Given the description of an element on the screen output the (x, y) to click on. 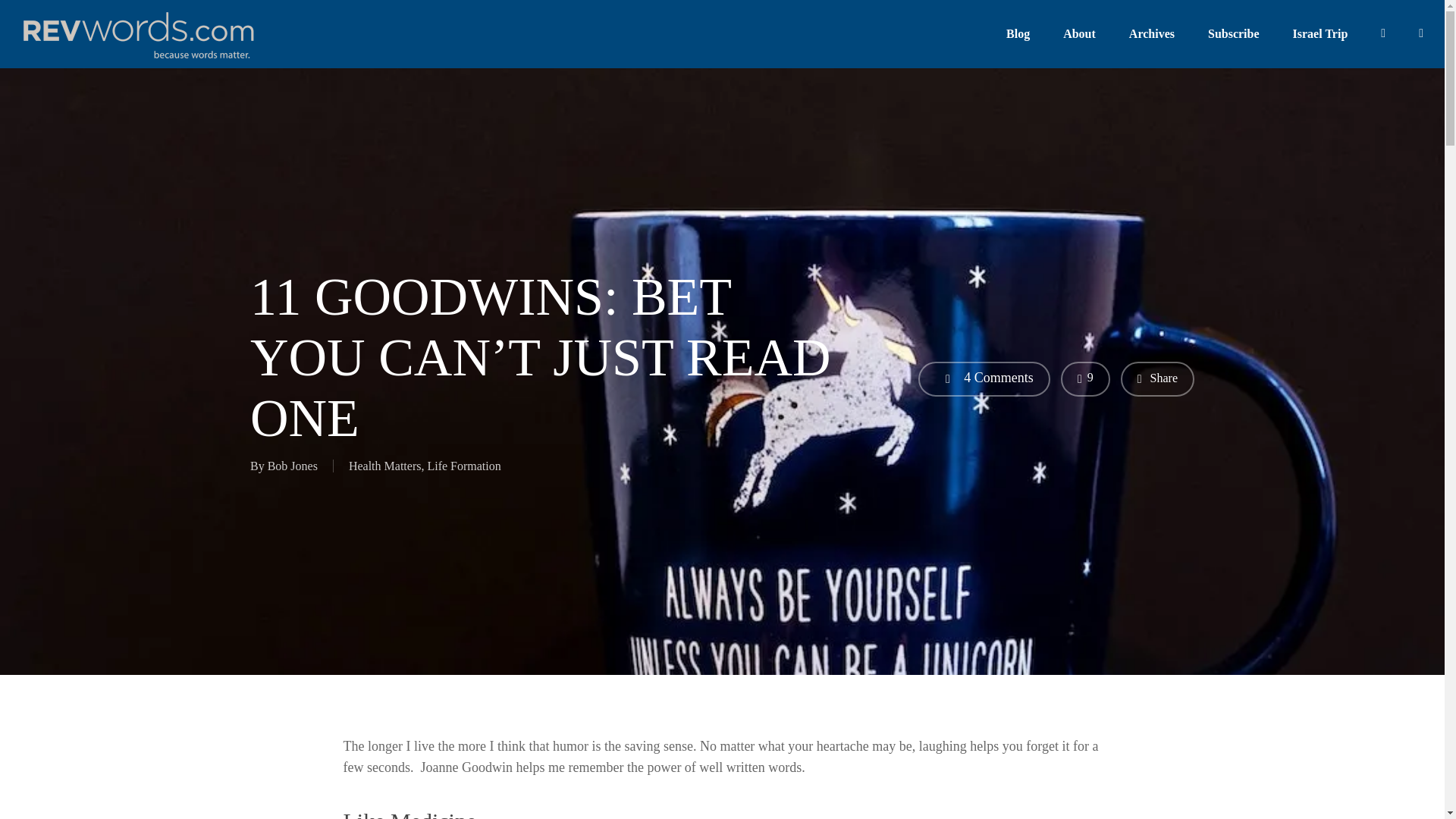
9 (1085, 378)
Bob Jones (292, 465)
Posts by Bob Jones (292, 465)
Life Formation (463, 465)
4 Comments (983, 378)
Health Matters (385, 465)
Israel Trip (1320, 34)
Love this (1085, 378)
Blog (1017, 34)
About (1079, 34)
Archives (1151, 34)
Subscribe (1233, 34)
